Given the description of an element on the screen output the (x, y) to click on. 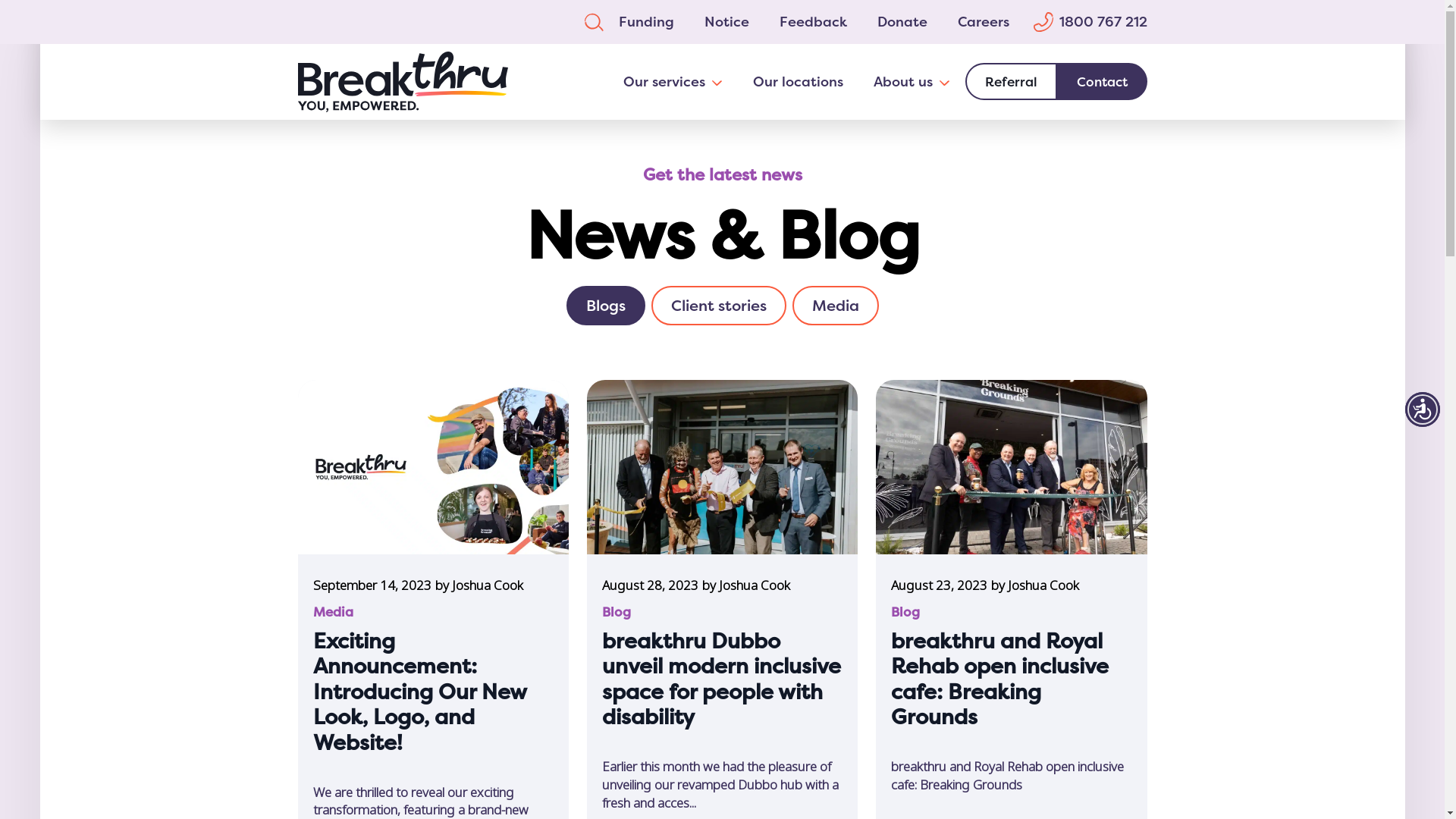
1800 767 212 Element type: text (1089, 21)
Our locations Element type: text (797, 81)
Contact Element type: text (1102, 81)
Referral Element type: text (1010, 81)
Media Element type: text (834, 305)
Careers Element type: text (982, 21)
Our services Element type: text (656, 81)
About us Element type: text (895, 81)
Donate Element type: text (901, 21)
Blogs Element type: text (604, 305)
Feedback Element type: text (813, 21)
Notice Element type: text (725, 21)
Client stories Element type: text (717, 305)
Funding Element type: text (646, 21)
